Given the description of an element on the screen output the (x, y) to click on. 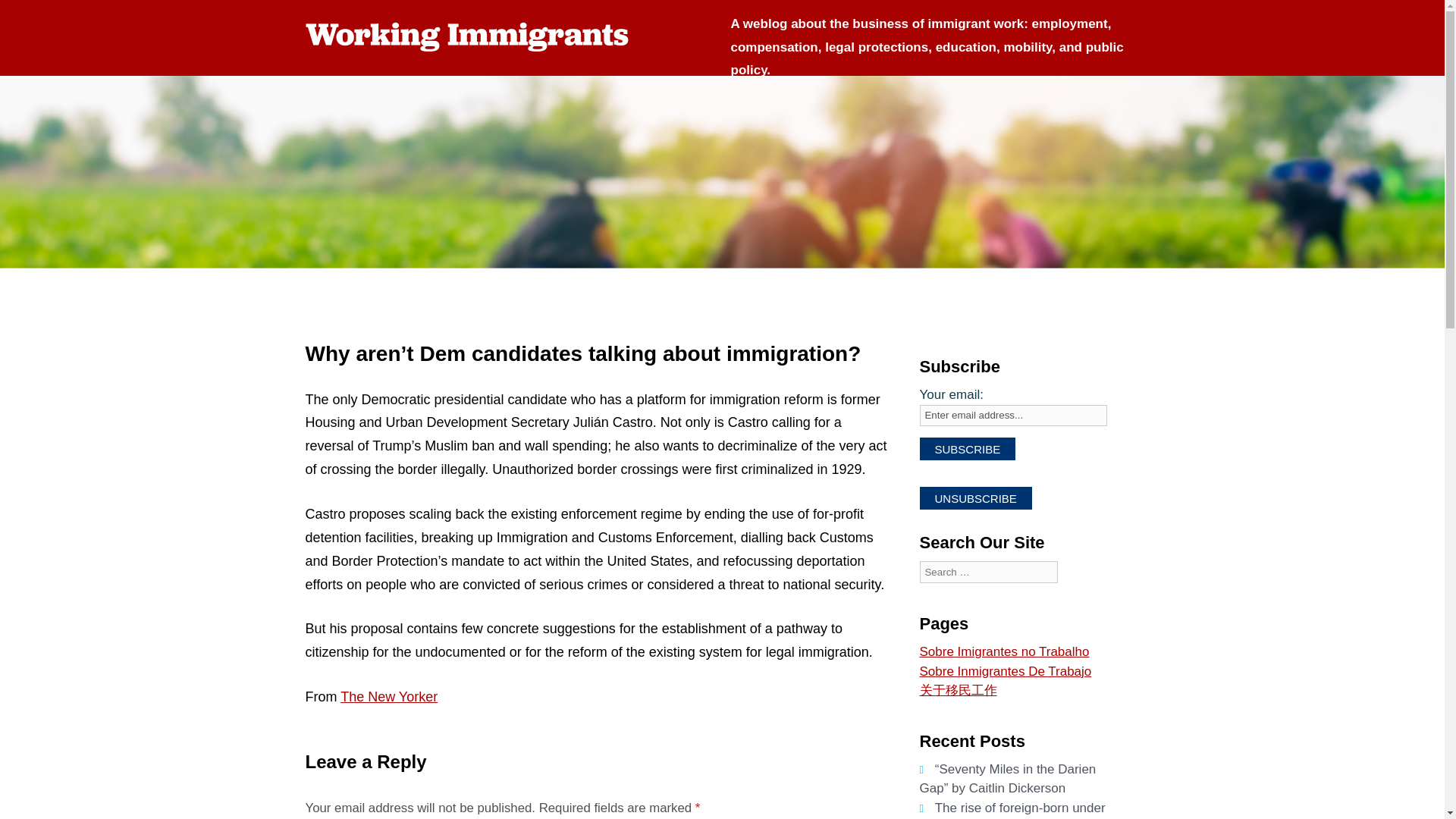
Search (933, 605)
Enter email address... (1012, 415)
Search (933, 605)
Working Immigrants (475, 35)
Unsubscribe (974, 497)
Sobre Imigrantes no Trabalho (1003, 651)
Unsubscribe (974, 497)
Subscribe (966, 448)
Search (933, 605)
Working Immigrants (475, 35)
